Given the description of an element on the screen output the (x, y) to click on. 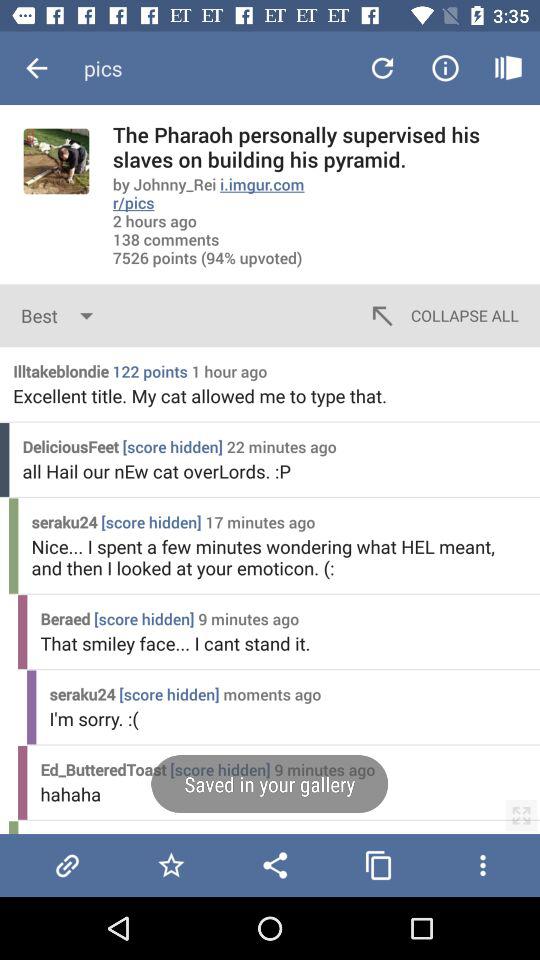
toggle full screen (521, 815)
